Given the description of an element on the screen output the (x, y) to click on. 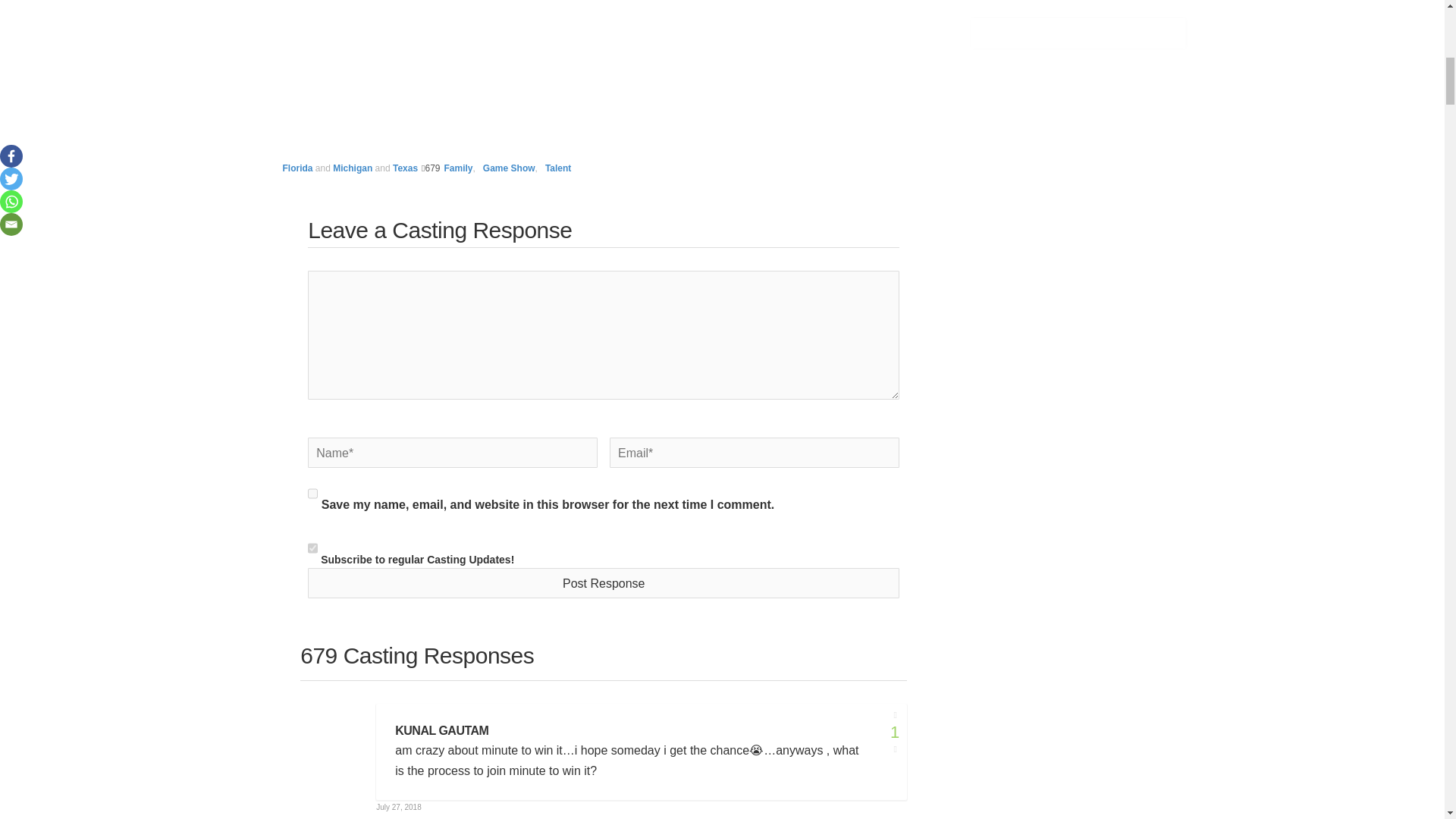
July 27, 2018 (398, 807)
View all posts tagged with Game Show (509, 167)
Post Response (603, 583)
View all posts in Florida (297, 167)
View all posts tagged with Family (458, 167)
View all posts in Texas (405, 167)
View all posts tagged with Talent (557, 167)
View all posts in Michigan (352, 167)
